Given the description of an element on the screen output the (x, y) to click on. 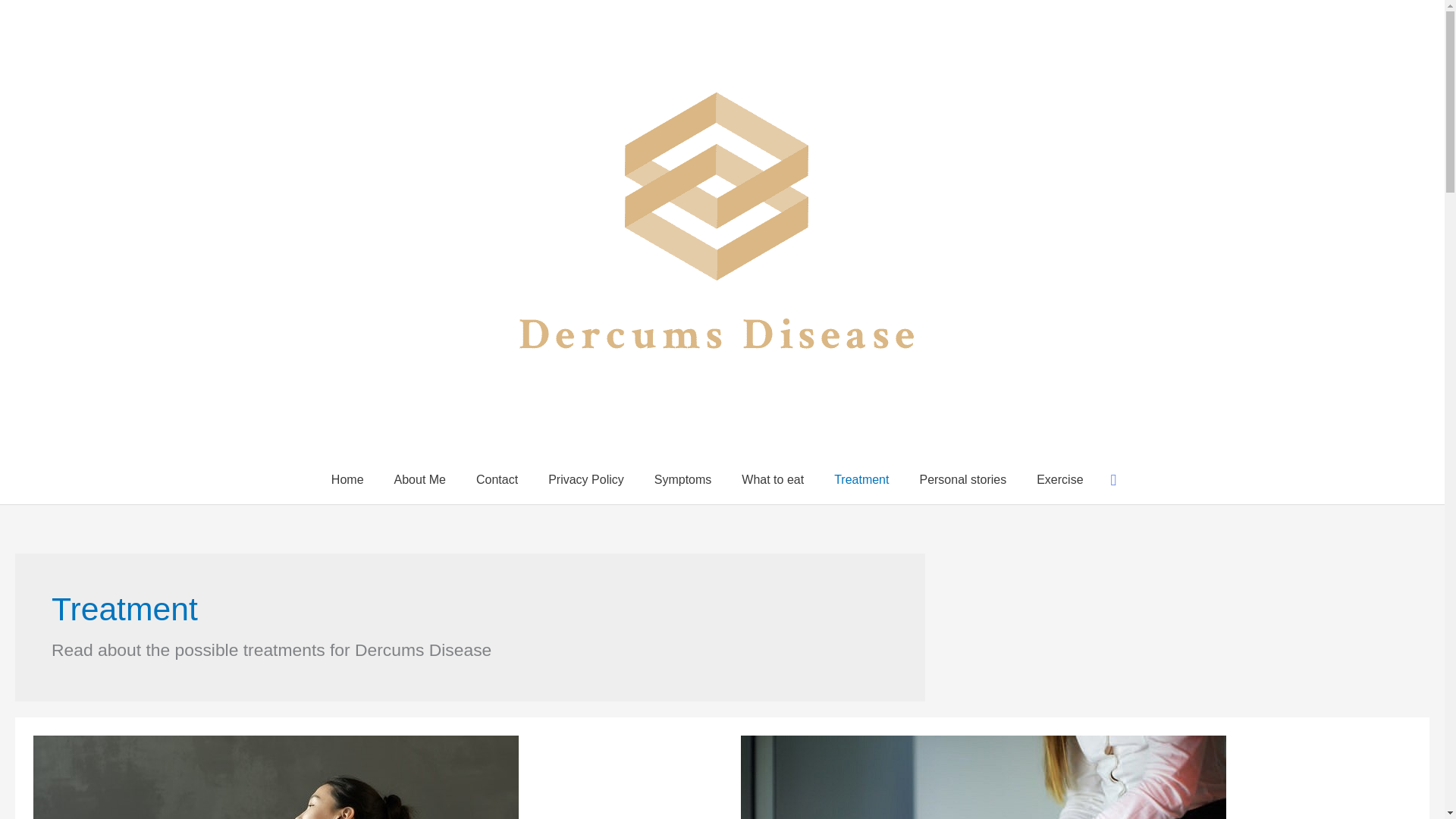
Exercise (1059, 479)
About Me (419, 479)
Personal stories (963, 479)
Treatment (861, 479)
Contact (496, 479)
Privacy Policy (585, 479)
What to eat (772, 479)
Symptoms (682, 479)
Home (346, 479)
